Given the description of an element on the screen output the (x, y) to click on. 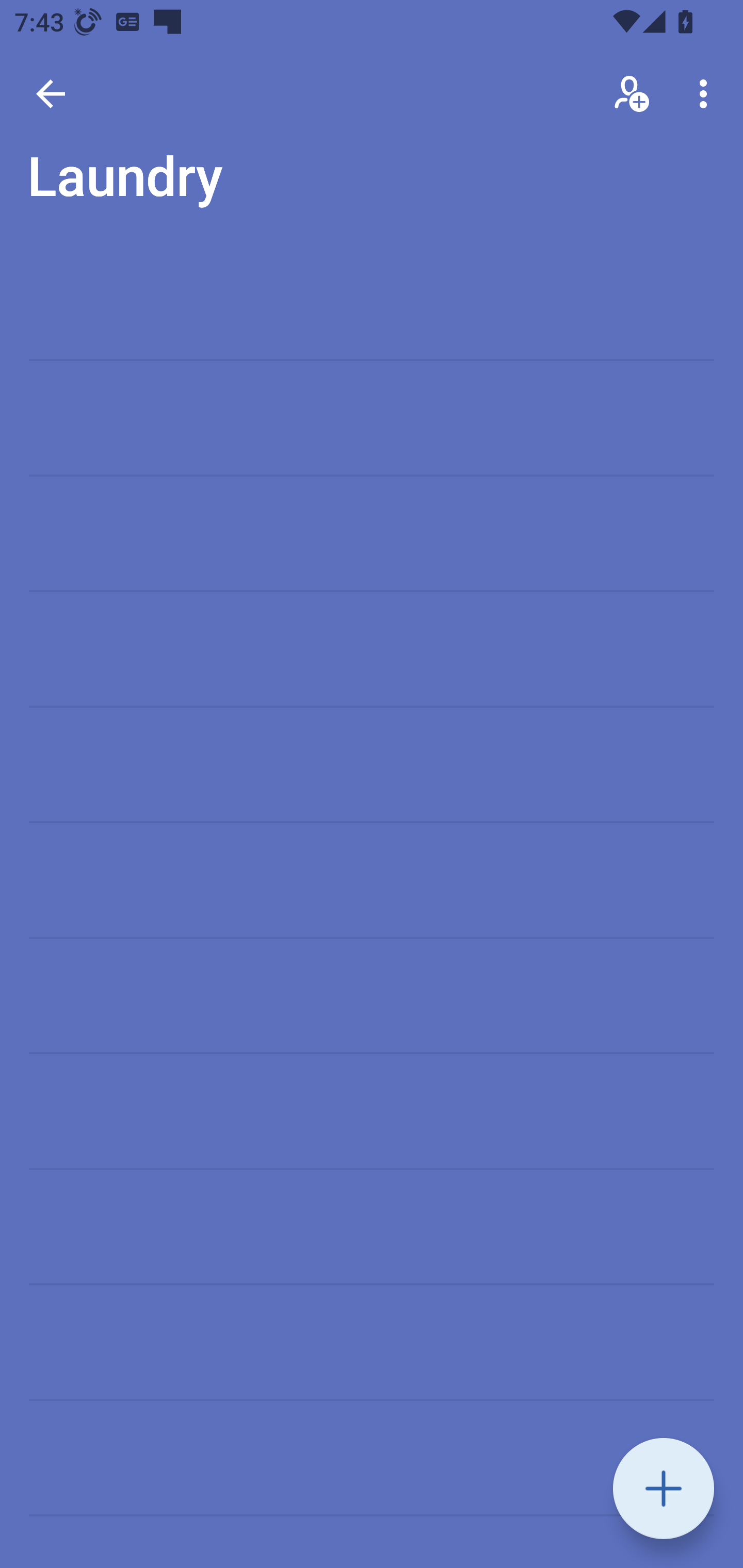
Back (50, 93)
Share list (632, 93)
More options (706, 93)
My Day, 0 tasks (182, 187)
Add a task (663, 1488)
